Given the description of an element on the screen output the (x, y) to click on. 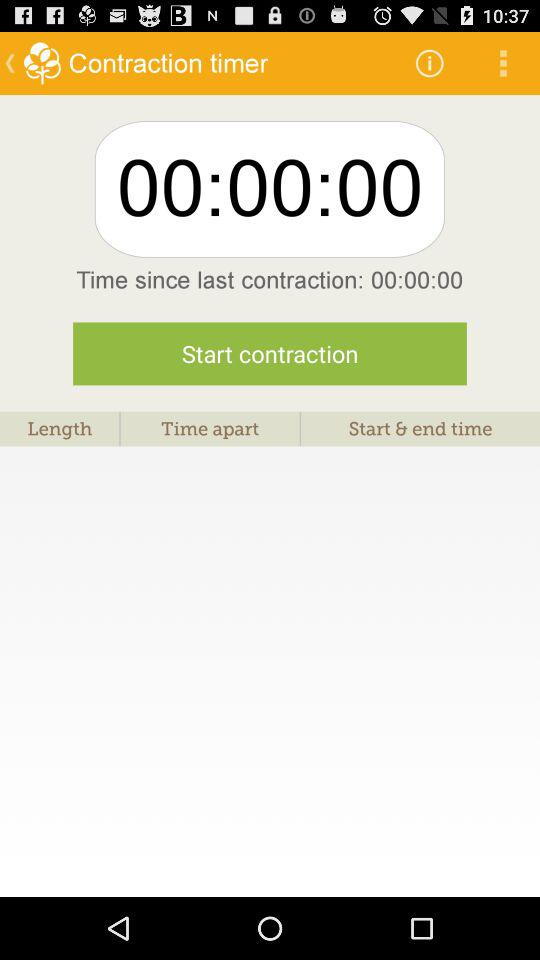
press the item above length item (269, 353)
